Given the description of an element on the screen output the (x, y) to click on. 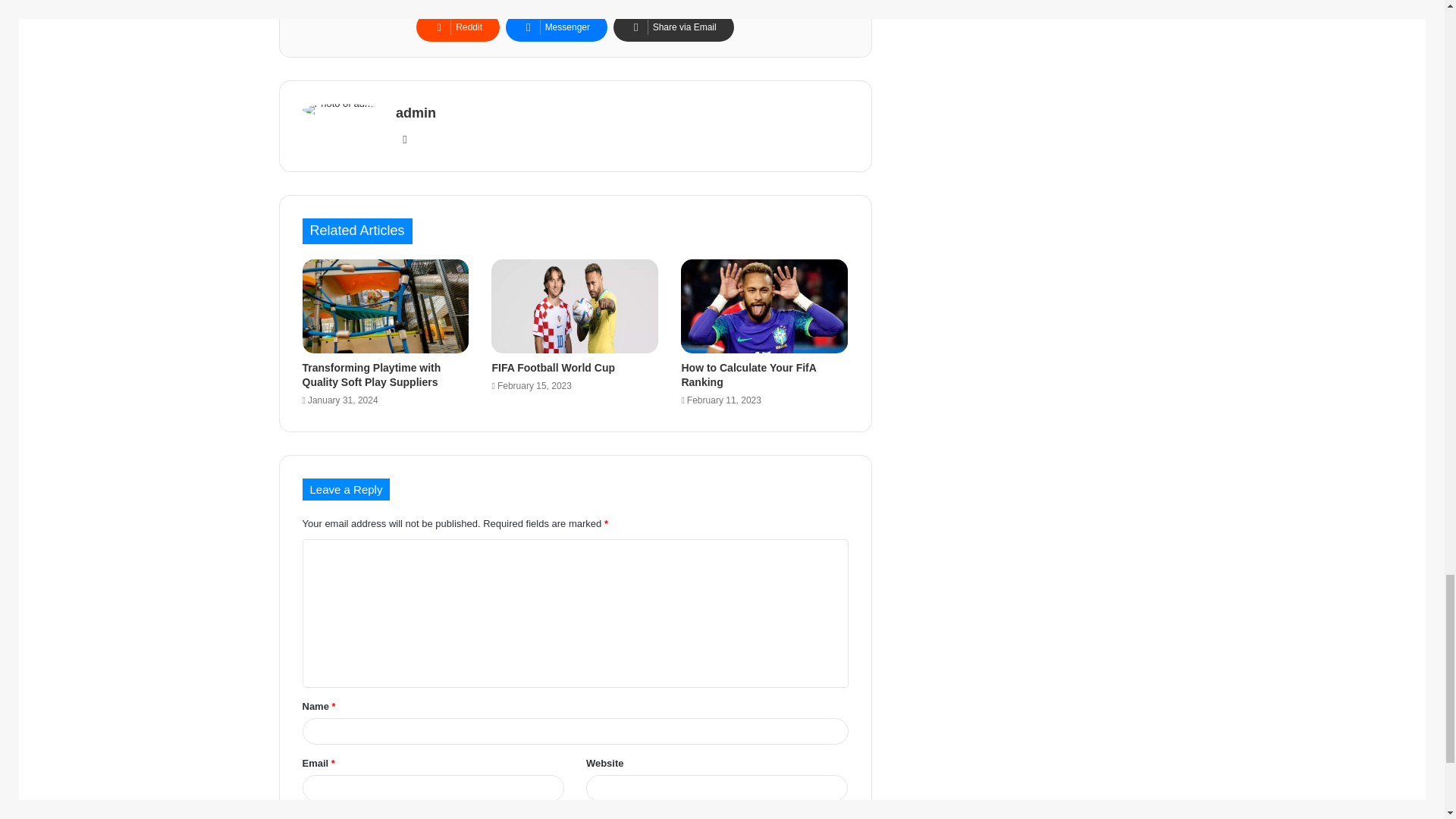
Pinterest (764, 4)
Reddit (457, 27)
yes (306, 816)
Facebook (387, 4)
Tumblr (670, 4)
Twitter (482, 4)
LinkedIn (576, 4)
